Given the description of an element on the screen output the (x, y) to click on. 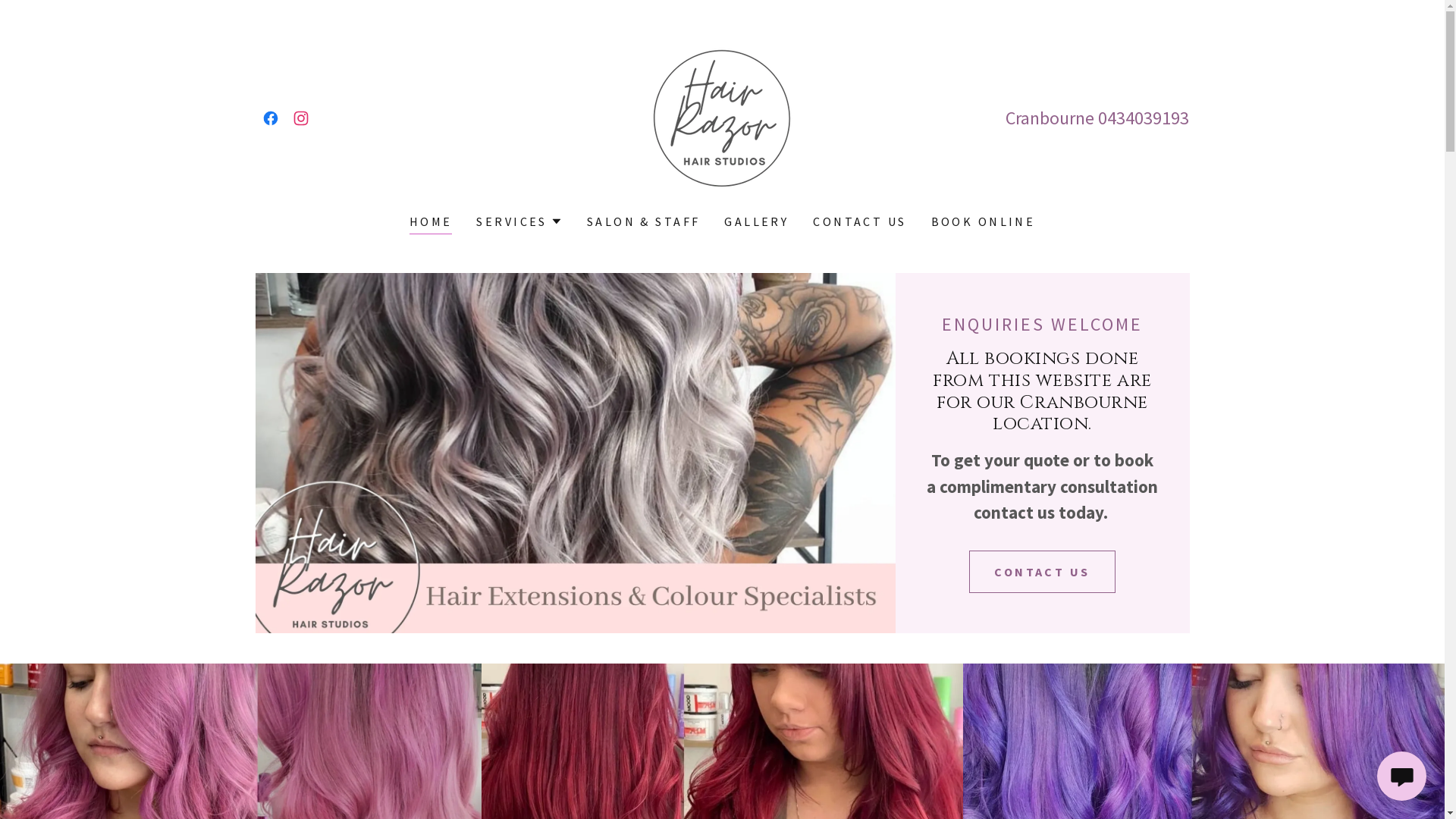
CONTACT US Element type: text (1041, 571)
SALON & STAFF Element type: text (643, 221)
SERVICES Element type: text (518, 221)
BOOK ONLINE Element type: text (983, 221)
CONTACT US Element type: text (859, 221)
HOME Element type: text (430, 223)
Hair Razor Hair Studios Element type: hover (721, 116)
0434039193 Element type: text (1143, 117)
GALLERY Element type: text (756, 221)
